Given the description of an element on the screen output the (x, y) to click on. 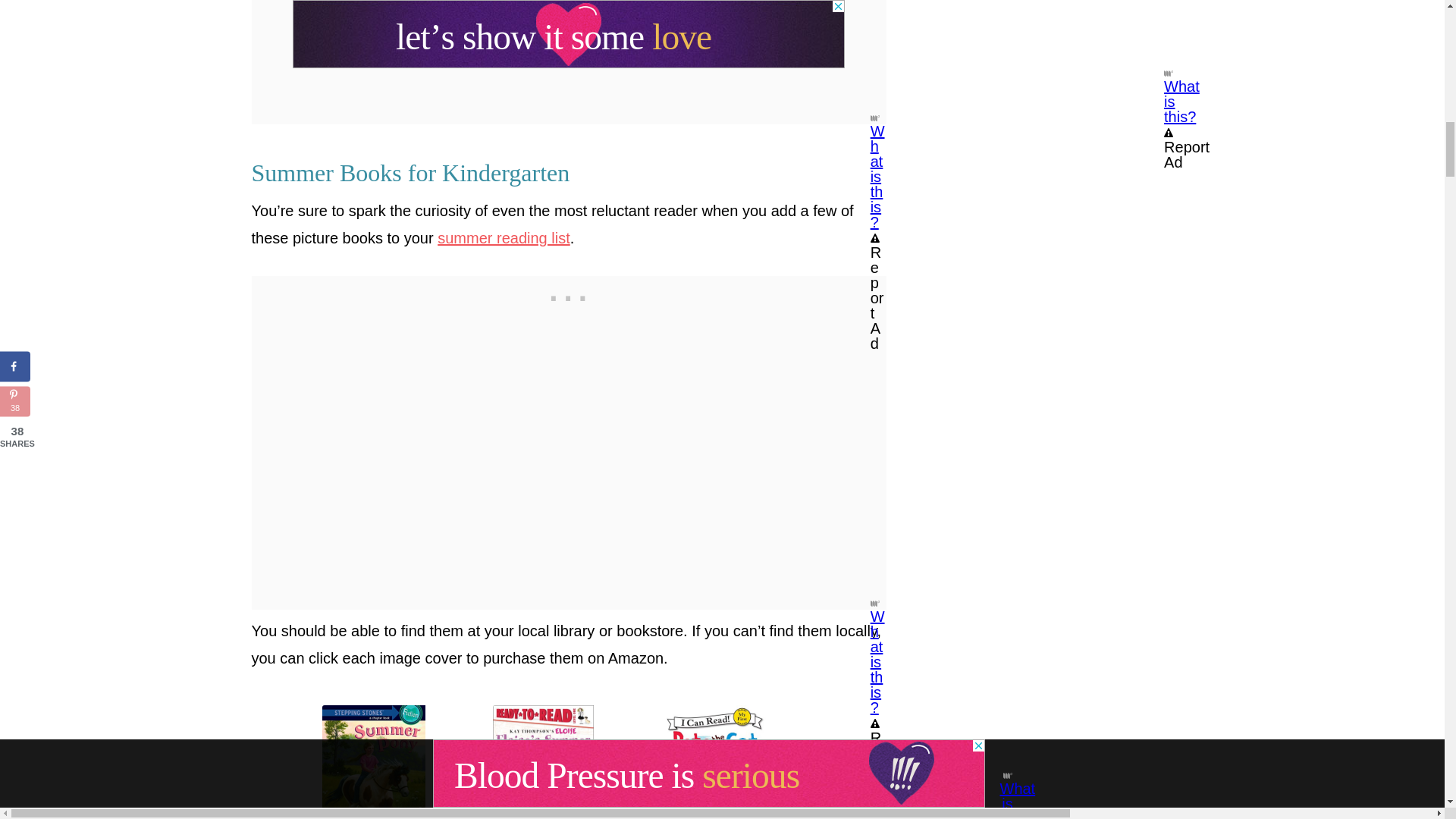
3rd party ad content (568, 294)
summer reading list (504, 238)
Eloise's Summer Vacation (569, 762)
